Given the description of an element on the screen output the (x, y) to click on. 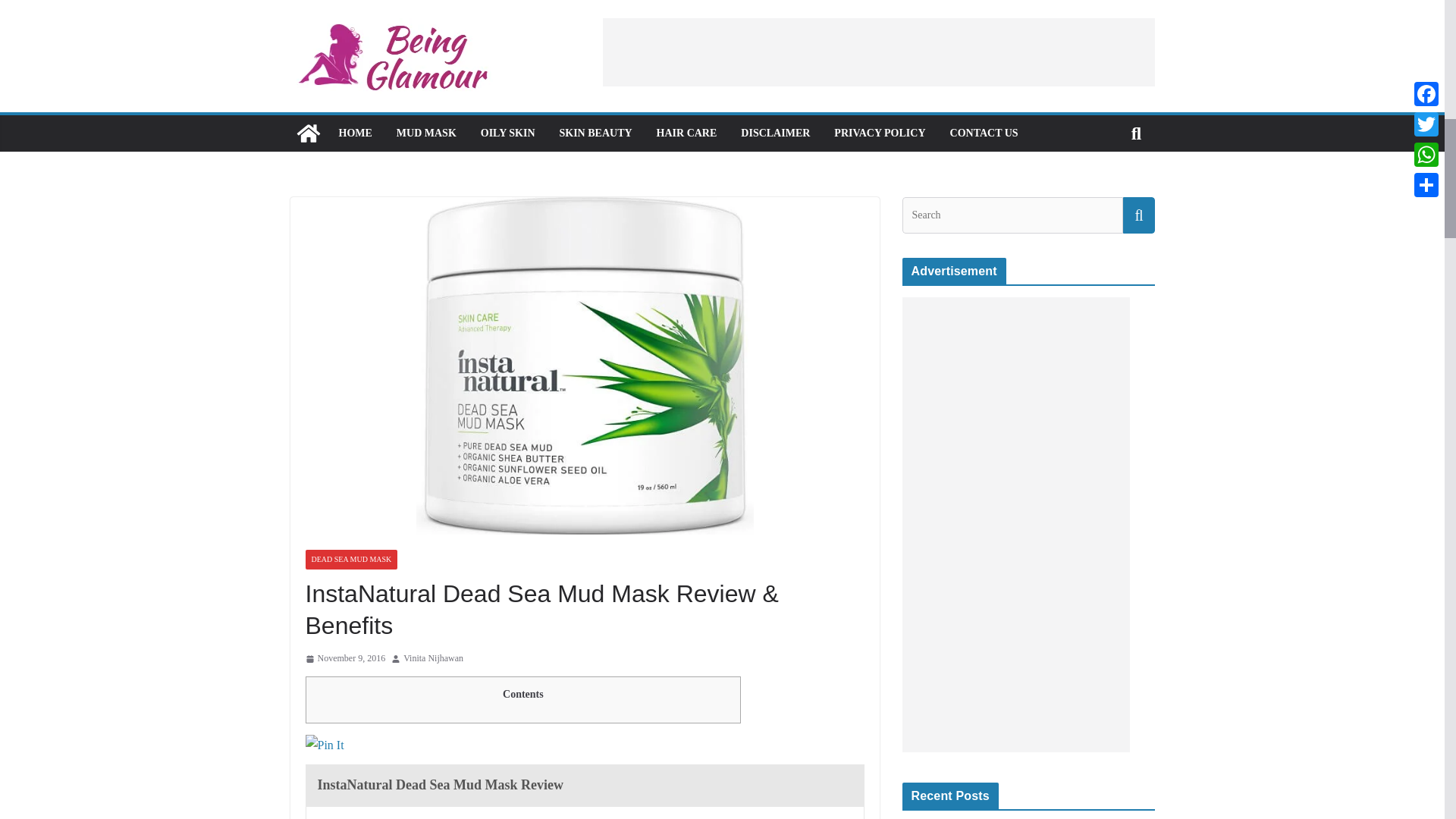
SKIN BEAUTY (595, 133)
PRIVACY POLICY (879, 133)
HAIR CARE (686, 133)
DISCLAIMER (775, 133)
HOME (354, 133)
CONTACT US (983, 133)
Vinita Nijhawan (433, 658)
Vinita Nijhawan (433, 658)
Pin It (323, 745)
Advertisement (878, 52)
10:11 am (344, 658)
Being Glamour (307, 133)
MUD MASK (426, 133)
OILY SKIN (507, 133)
November 9, 2016 (344, 658)
